Given the description of an element on the screen output the (x, y) to click on. 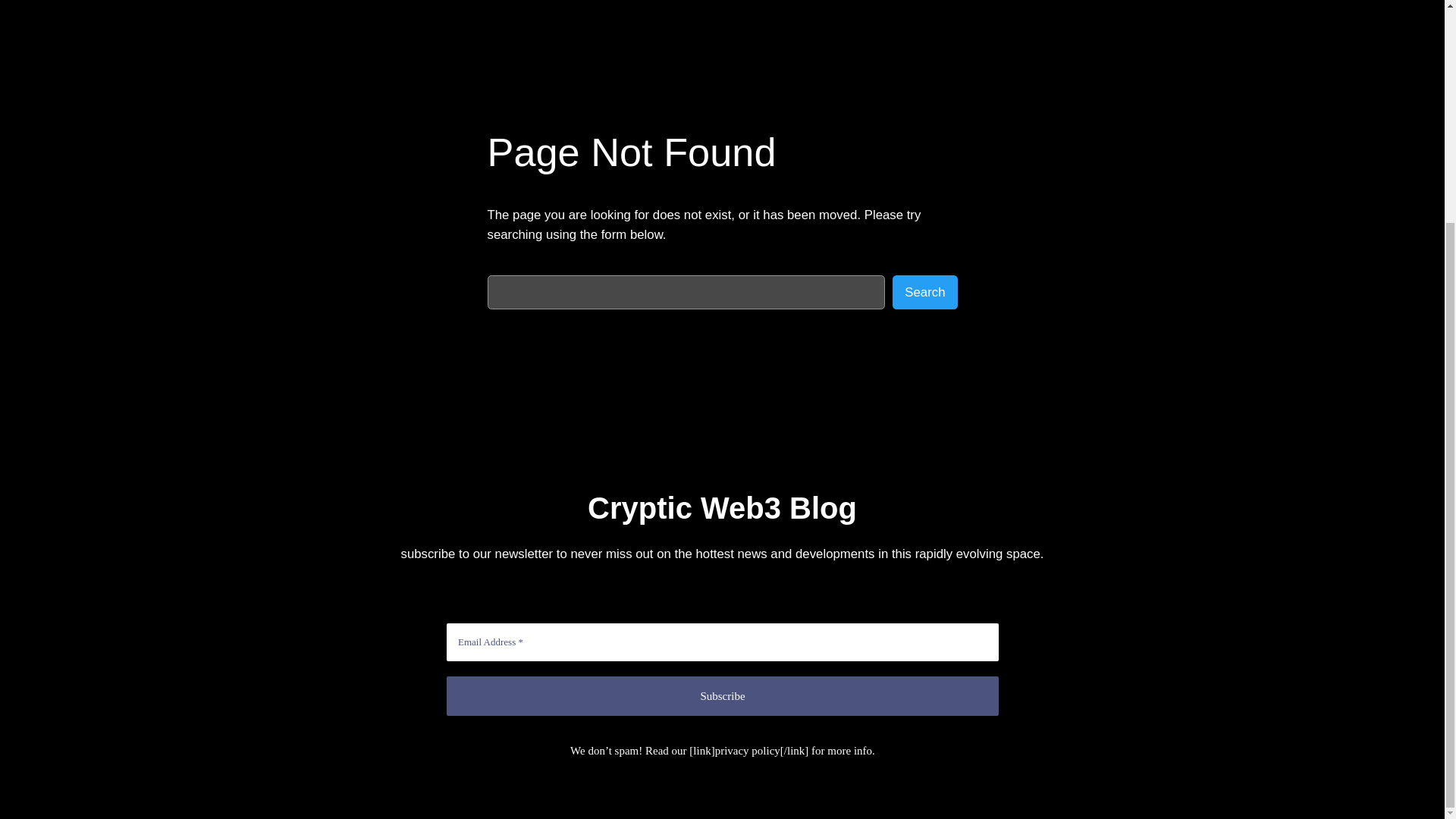
Search (924, 292)
Email Address (722, 641)
Subscribe (722, 695)
Subscribe (722, 695)
